Given the description of an element on the screen output the (x, y) to click on. 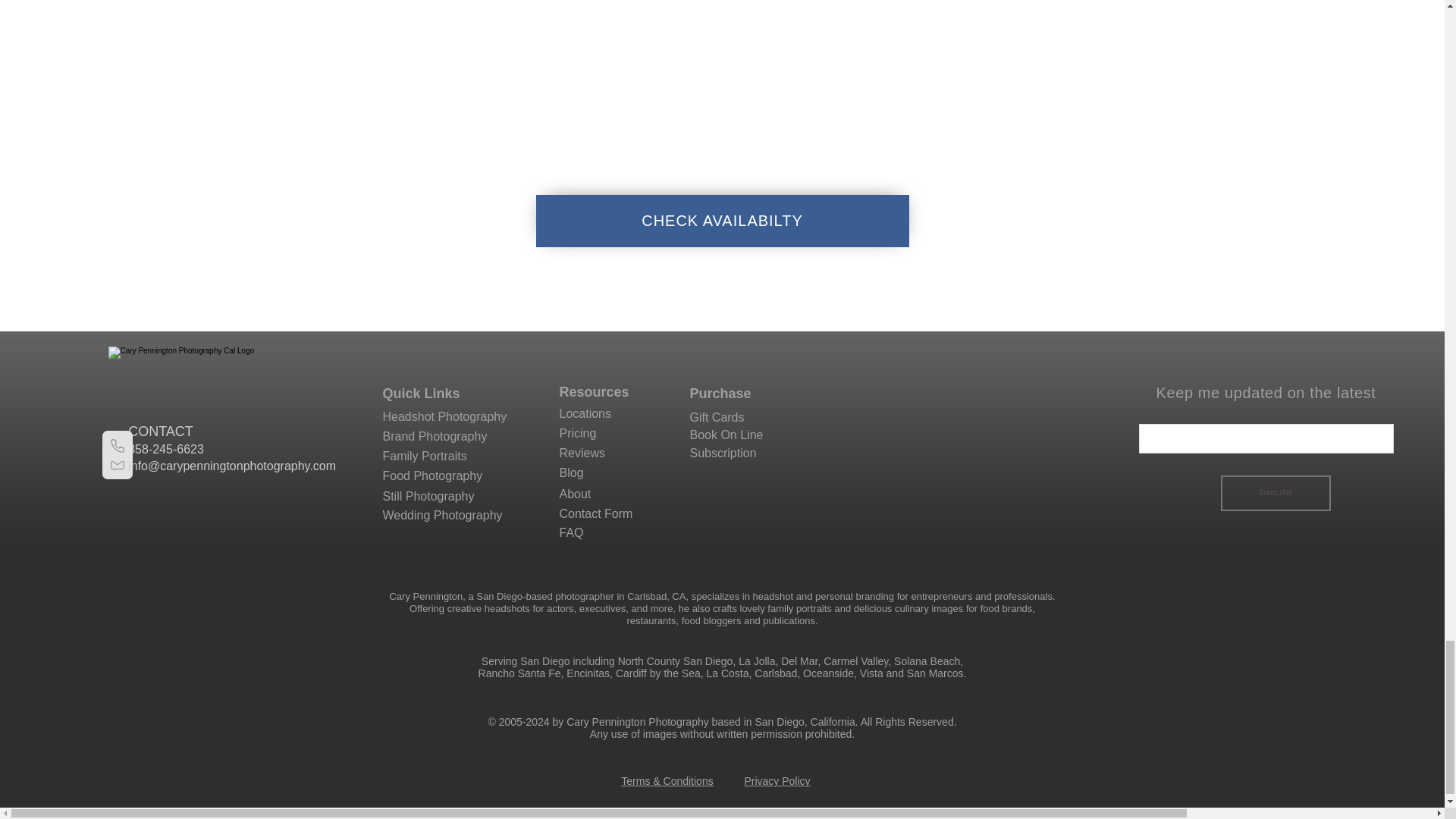
Family Portraits (423, 455)
Pricing (577, 432)
Wedding Photography (441, 514)
Brand Photography (433, 436)
Subscribe (1275, 493)
Gift Cards (717, 417)
About (575, 493)
Contact Form (596, 513)
Blog (571, 472)
Privacy Policy (776, 780)
